Given the description of an element on the screen output the (x, y) to click on. 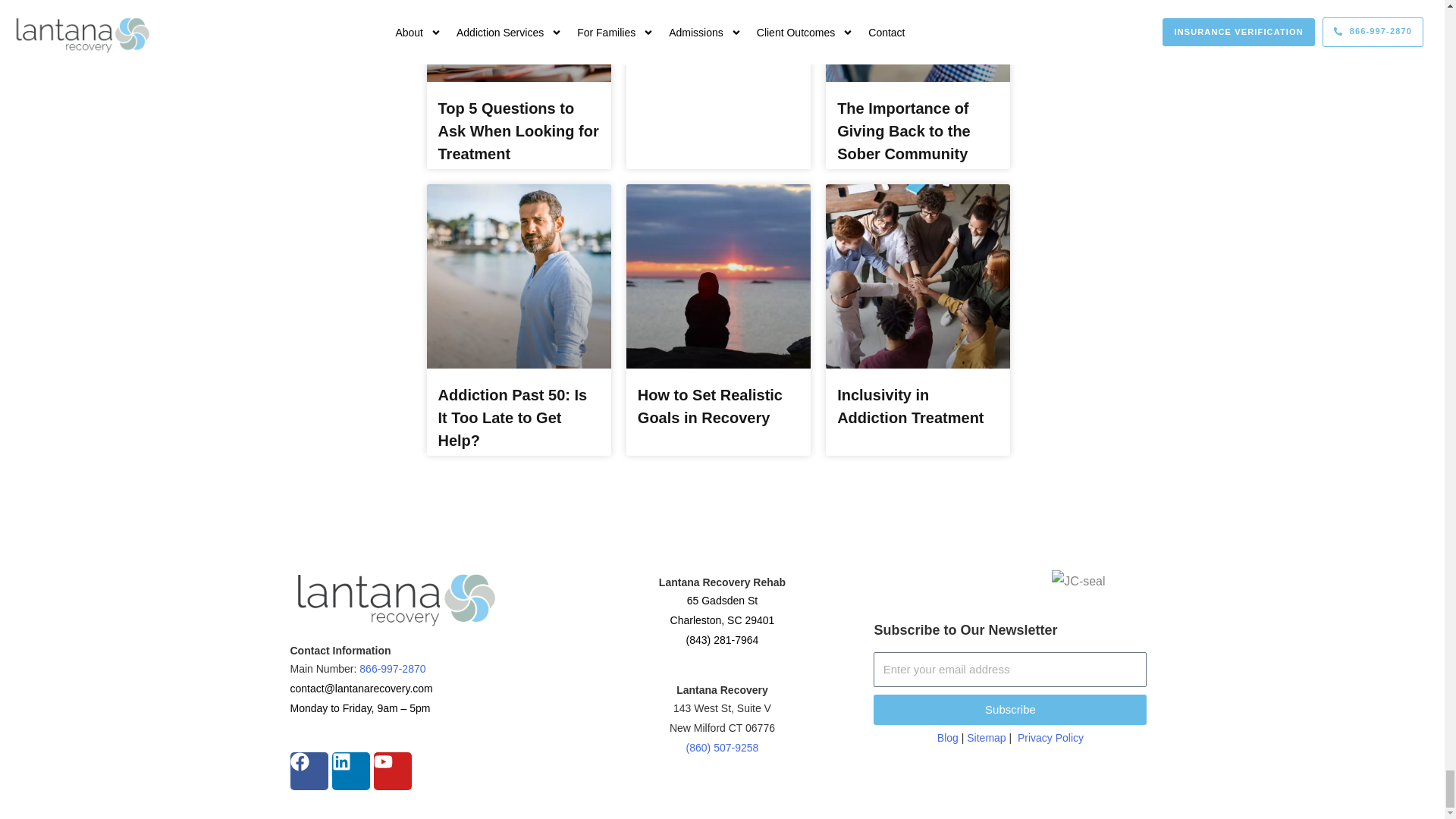
JC-seal (1078, 581)
